Given the description of an element on the screen output the (x, y) to click on. 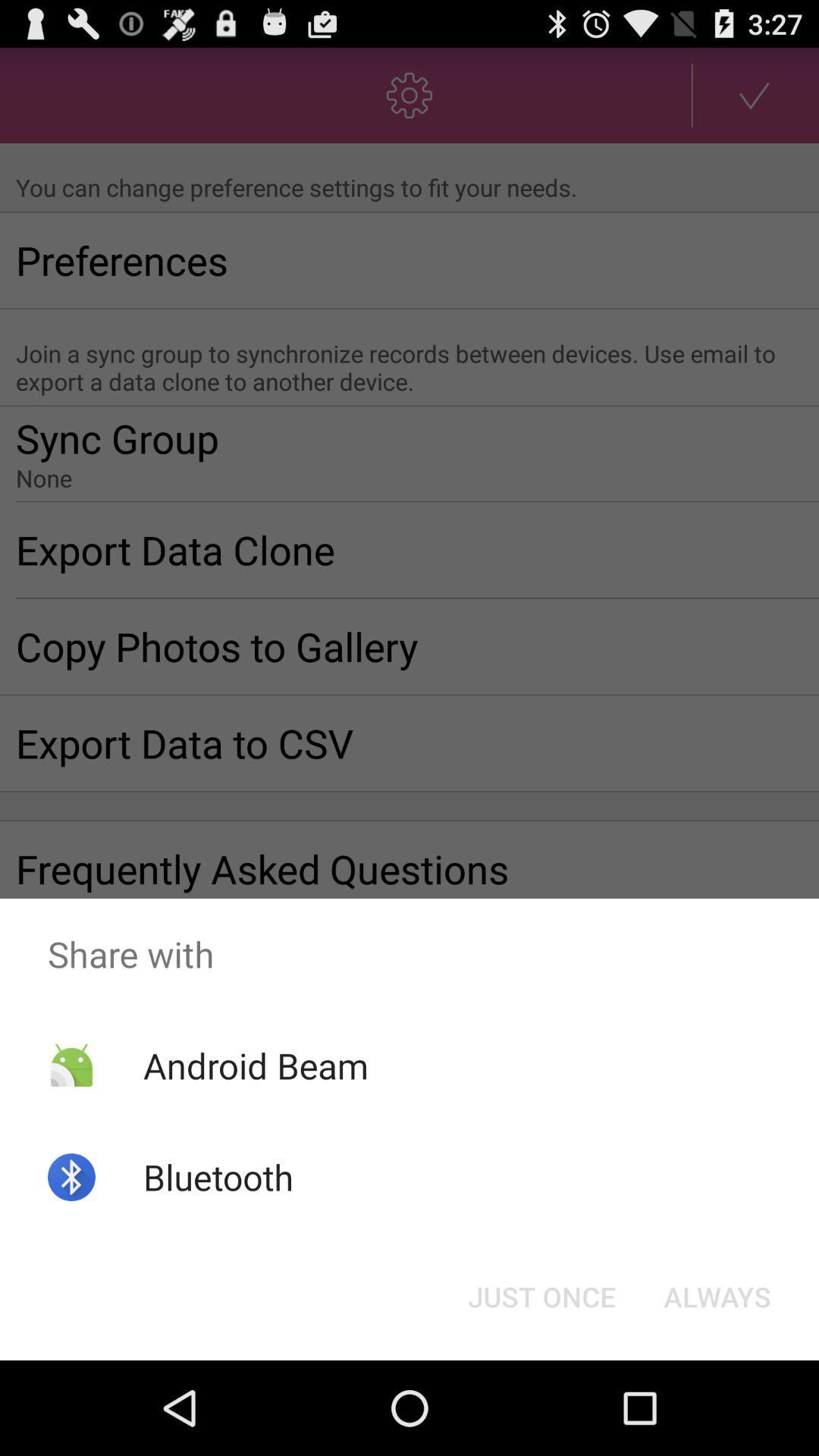
launch button to the right of just once item (717, 1296)
